Given the description of an element on the screen output the (x, y) to click on. 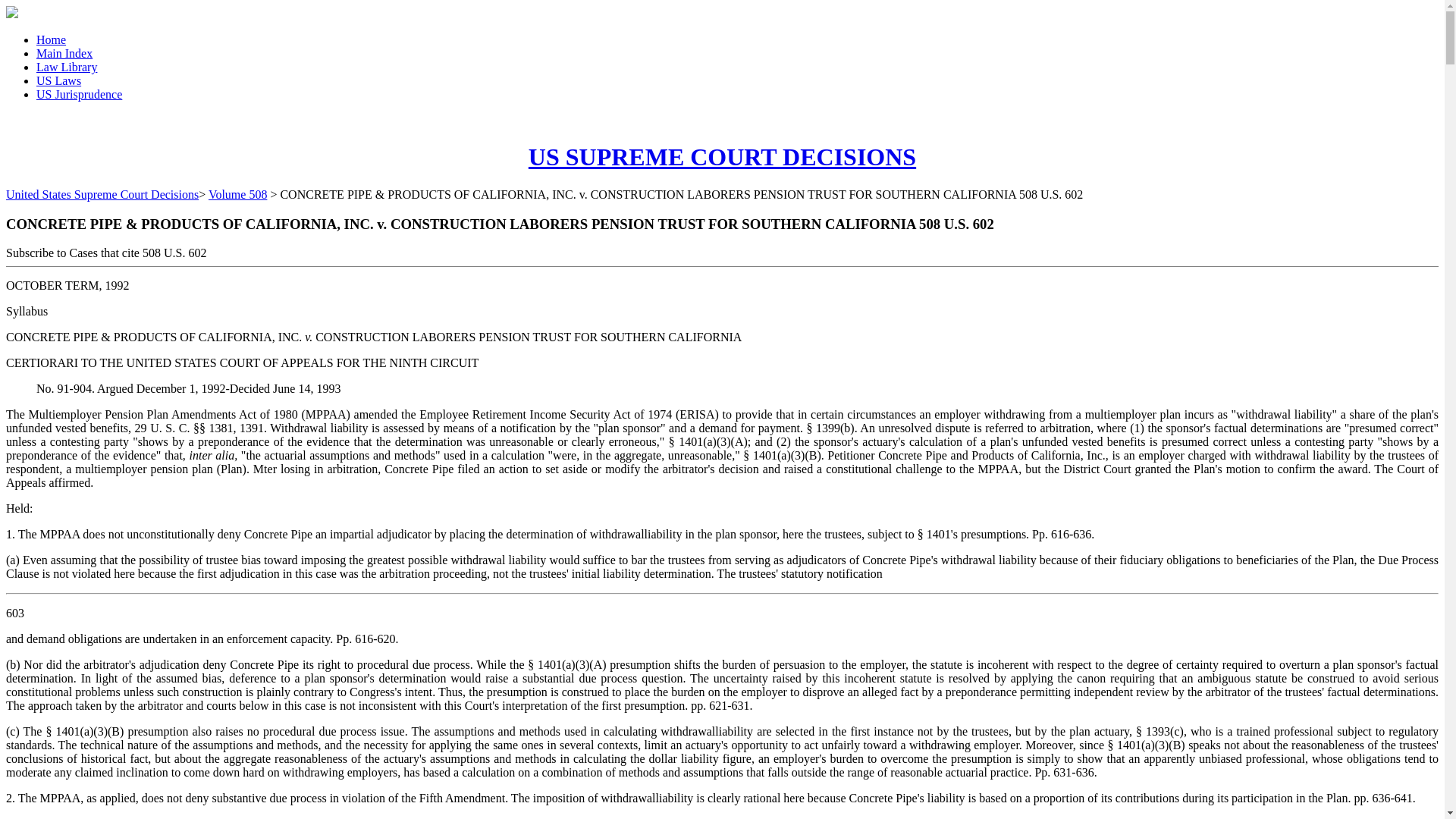
United States Supreme Court Decisions - On-Line (721, 156)
603 (14, 612)
Home (50, 39)
Volume 508 (237, 194)
United States Supreme Court Decisions (101, 194)
US Laws (58, 80)
US SUPREME COURT DECISIONS (721, 156)
Law Library (66, 66)
Main Index (64, 52)
US Jurisprudence (79, 93)
